Given the description of an element on the screen output the (x, y) to click on. 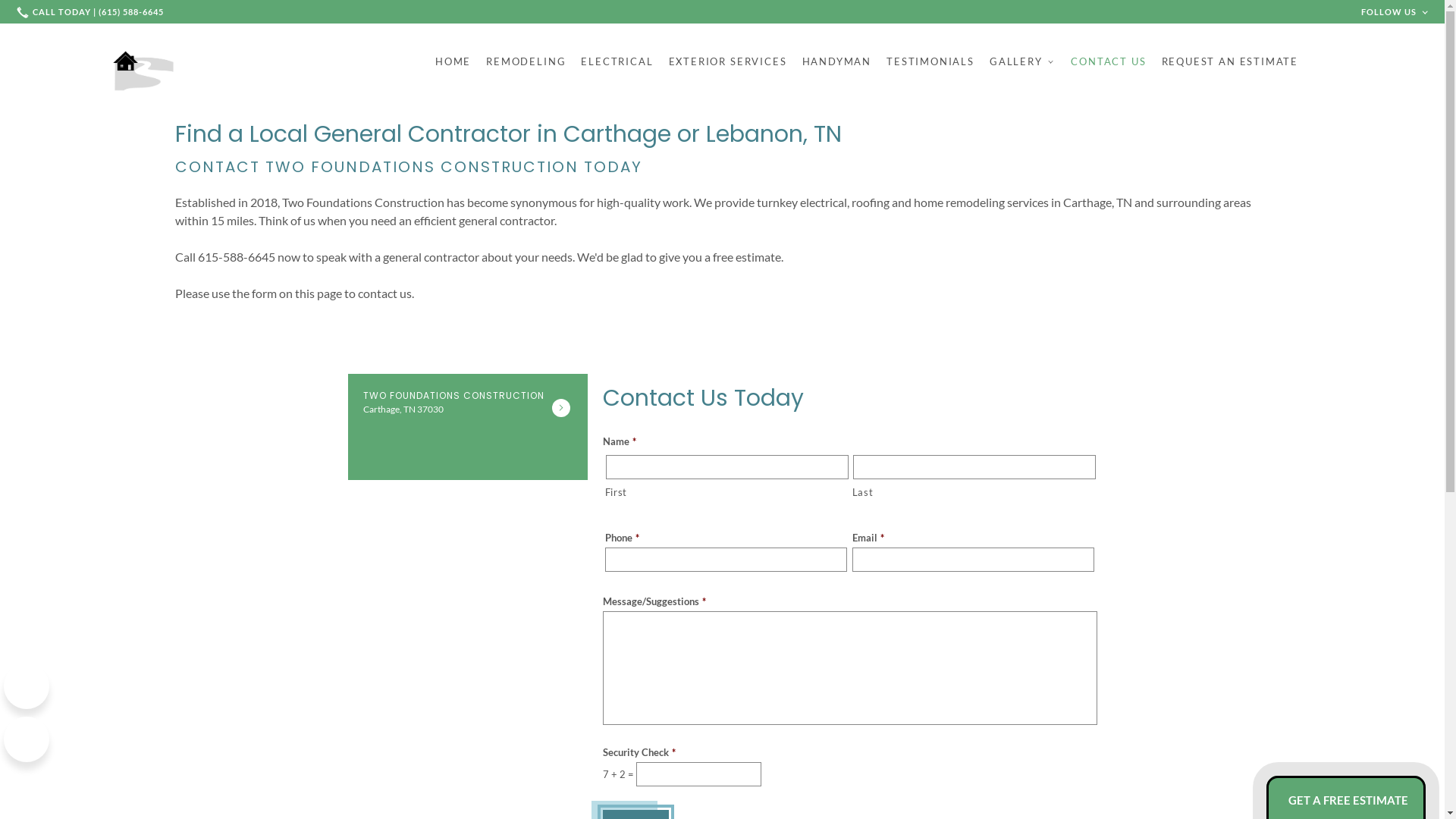
HANDYMAN Element type: text (837, 61)
REQUEST AN ESTIMATE Element type: text (1230, 61)
TESTIMONIALS Element type: text (930, 61)
ELECTRICAL Element type: text (616, 61)
CONTACT US Element type: text (1107, 61)
REMODELING Element type: text (525, 61)
(615) 588-6645 Element type: hover (91, 11)
See Details Element type: hover (561, 407)
HOME Element type: text (452, 61)
EXTERIOR SERVICES Element type: text (727, 61)
  GET A FREE ESTIMATE Element type: text (1345, 800)
